Given the description of an element on the screen output the (x, y) to click on. 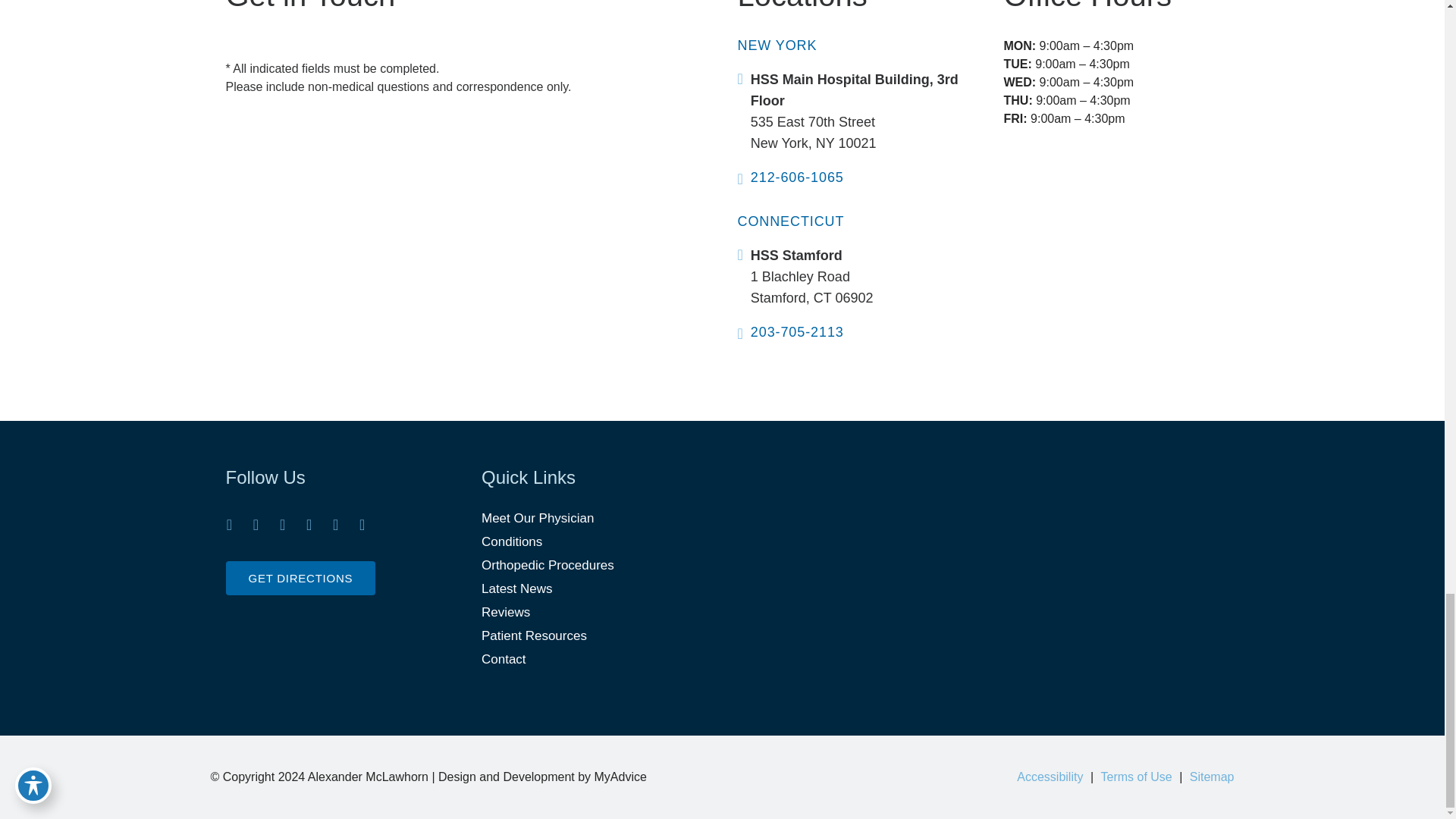
Map Location (983, 525)
Learn more about this location (812, 287)
Learn more about this location (813, 132)
